Given the description of an element on the screen output the (x, y) to click on. 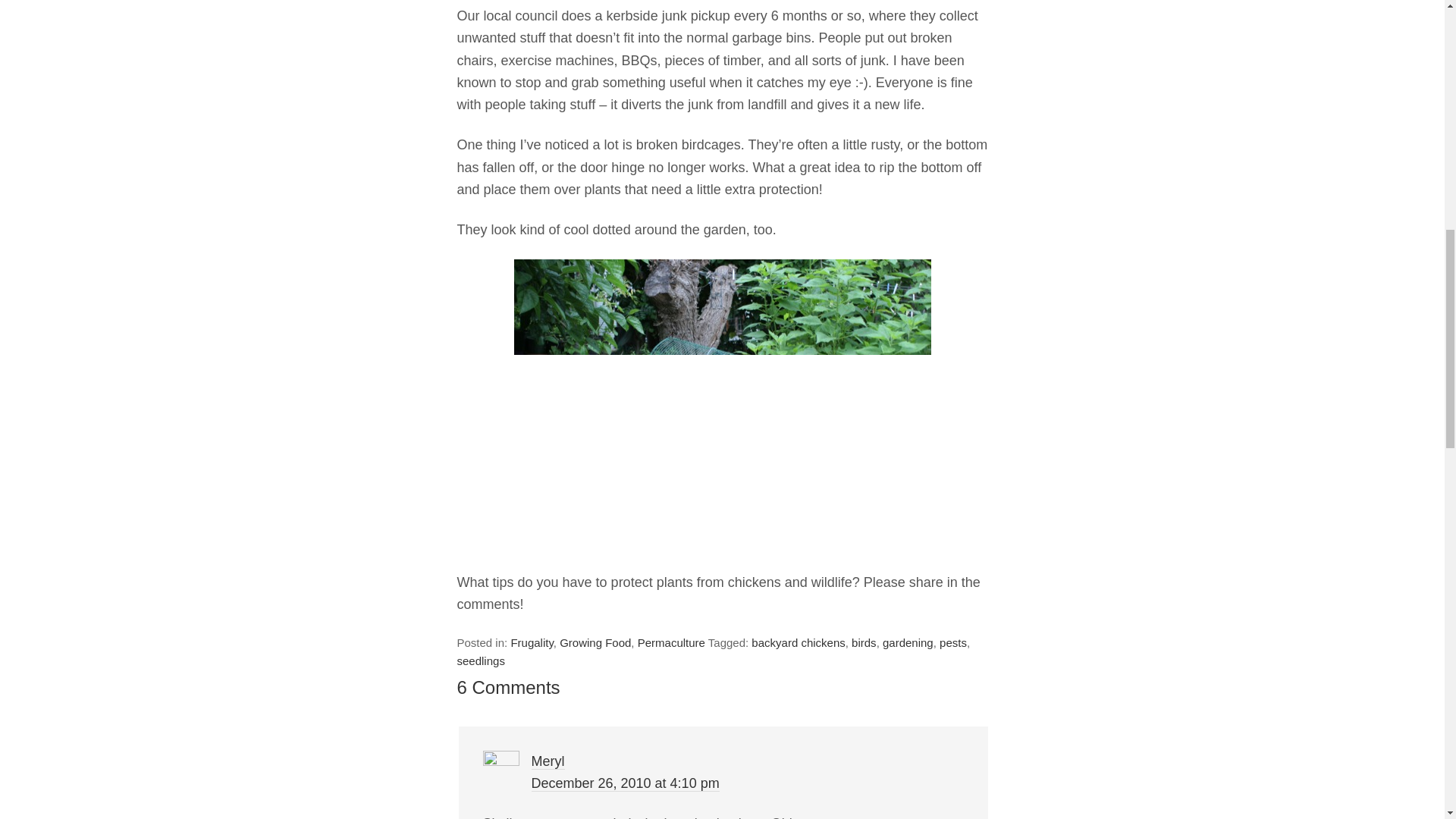
backyard chickens (797, 642)
pests (952, 642)
Permaculture (670, 642)
birds (863, 642)
December 26, 2010 at 4:10 pm (625, 783)
Sunday, December 26, 2010, 4:10 pm (625, 783)
Frugality (532, 642)
seedlings (480, 660)
Growing Food (594, 642)
gardening (907, 642)
Meryl (547, 761)
Use an old birdcage to protect tender seedlings (722, 398)
